Given the description of an element on the screen output the (x, y) to click on. 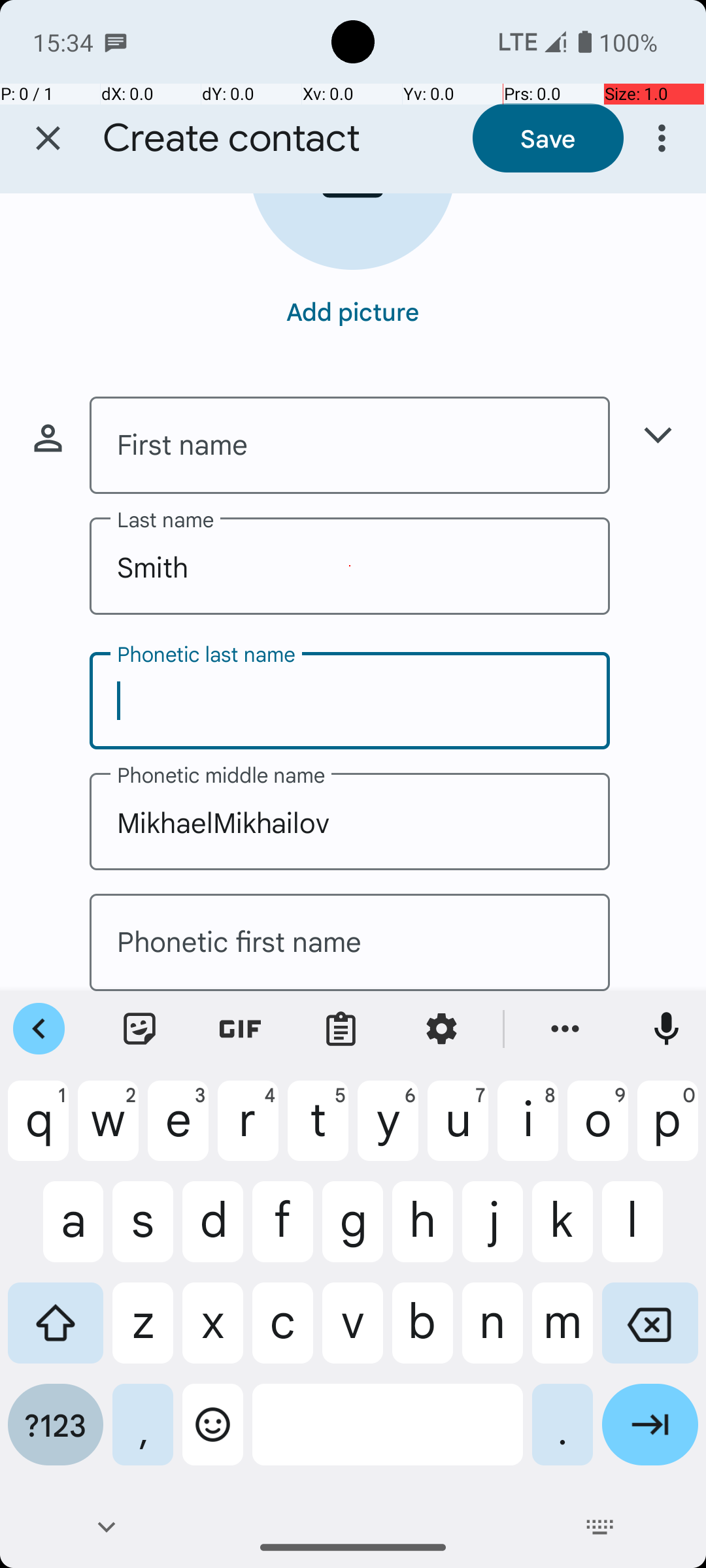
Add contact photo Element type: android.widget.FrameLayout (352, 231)
Add picture Element type: android.widget.Button (352, 310)
Smith Element type: android.widget.EditText (349, 565)
Phonetic last name Element type: android.widget.EditText (349, 700)
MikhaelMikhailov Element type: android.widget.EditText (349, 821)
Phonetic first name Element type: android.widget.EditText (349, 942)
Show more name fields Element type: android.widget.ImageView (657, 434)
